Given the description of an element on the screen output the (x, y) to click on. 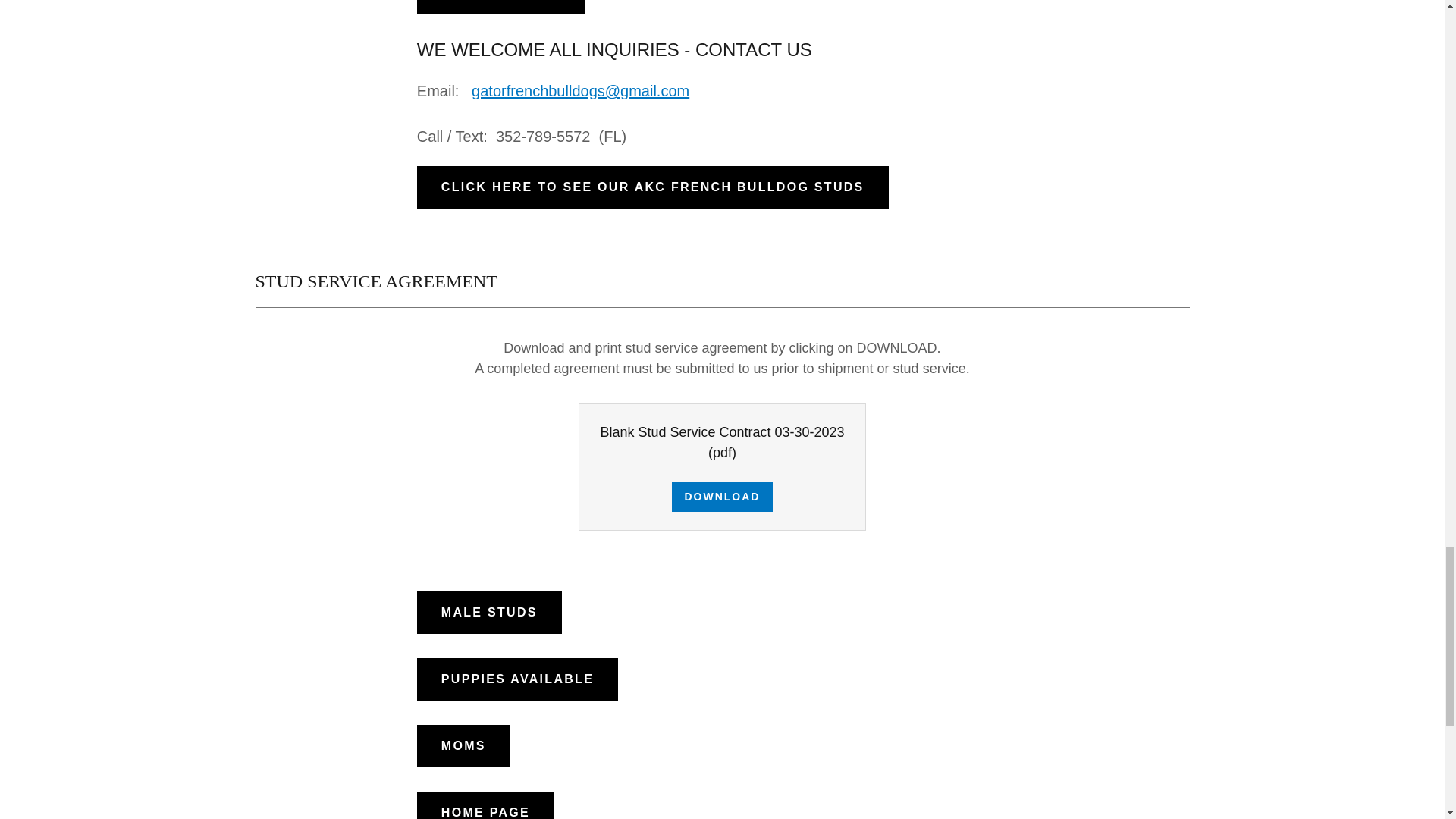
FIND OUT MORE (500, 7)
PUPPIES AVAILABLE (516, 679)
CLICK HERE TO SEE OUR AKC FRENCH BULLDOG STUDS (652, 187)
MALE STUDS (489, 612)
DOWNLOAD (721, 496)
HOME PAGE (485, 805)
MOMS (463, 745)
